Given the description of an element on the screen output the (x, y) to click on. 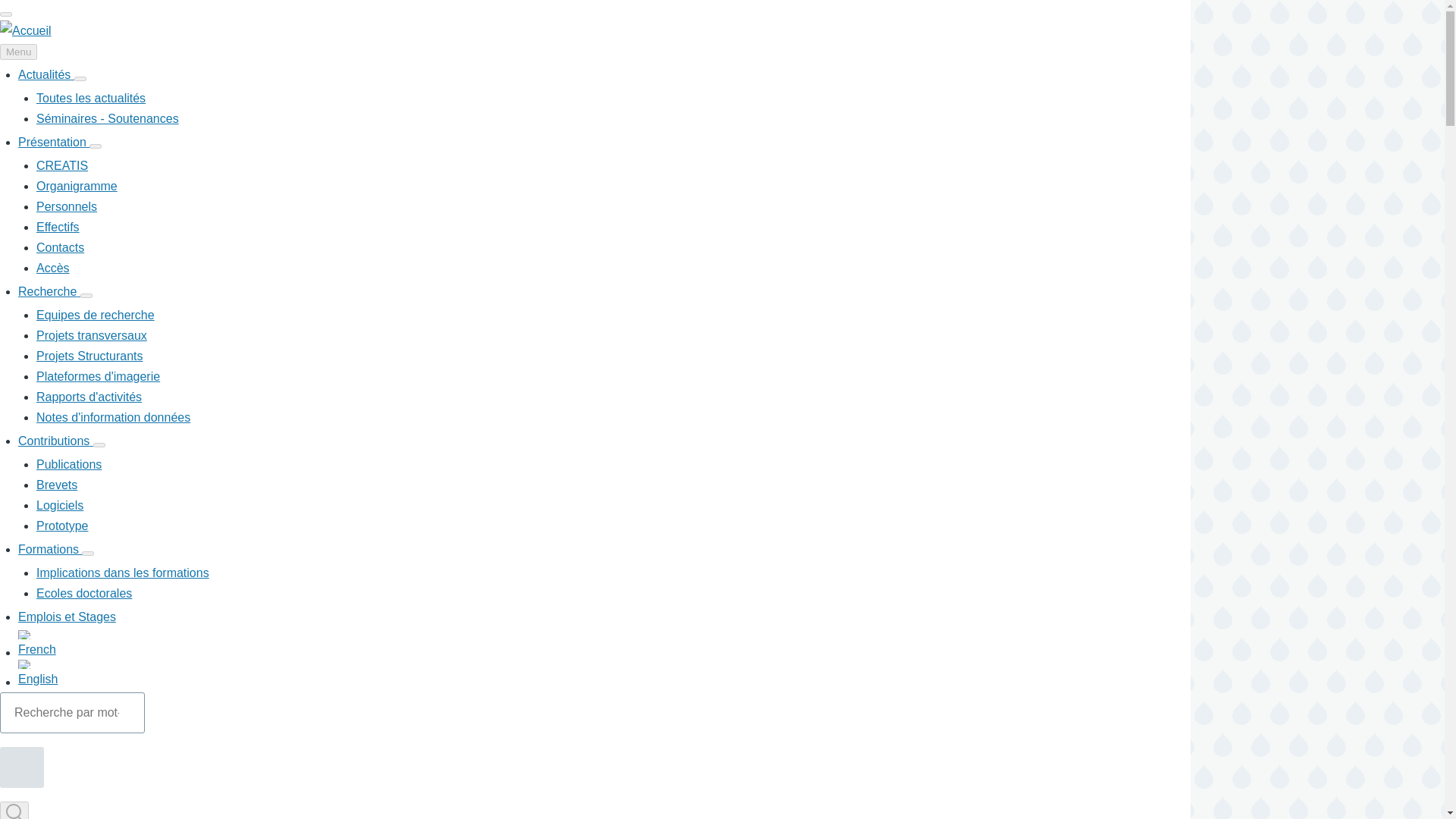
Implications dans les formations (122, 572)
Projets transversaux (91, 335)
sous-navigation Formations (87, 553)
Recherche (48, 291)
CREATIS (61, 164)
Personnels (66, 205)
Emplois et Stages (66, 616)
Contacts (60, 246)
Contributions (55, 440)
Effectifs (58, 226)
Rechercher (21, 766)
Menu (18, 51)
English (604, 672)
Prototype (61, 525)
